Given the description of an element on the screen output the (x, y) to click on. 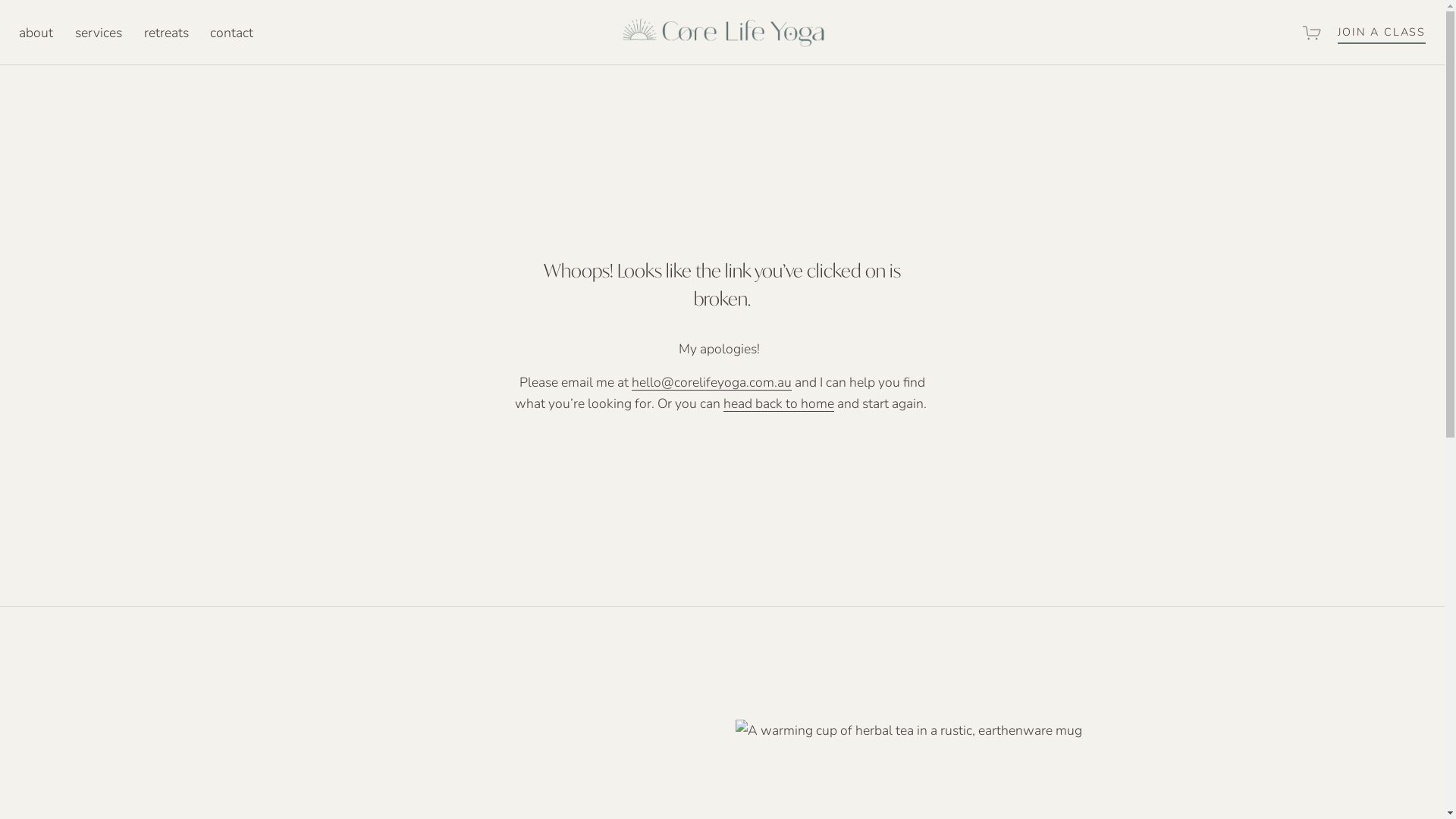
JOIN A CLASS Element type: text (1381, 32)
services Element type: text (98, 32)
head back to home Element type: text (778, 403)
hello@corelifeyoga.com.au Element type: text (711, 382)
contact Element type: text (231, 32)
about Element type: text (35, 32)
retreats Element type: text (166, 32)
